Given the description of an element on the screen output the (x, y) to click on. 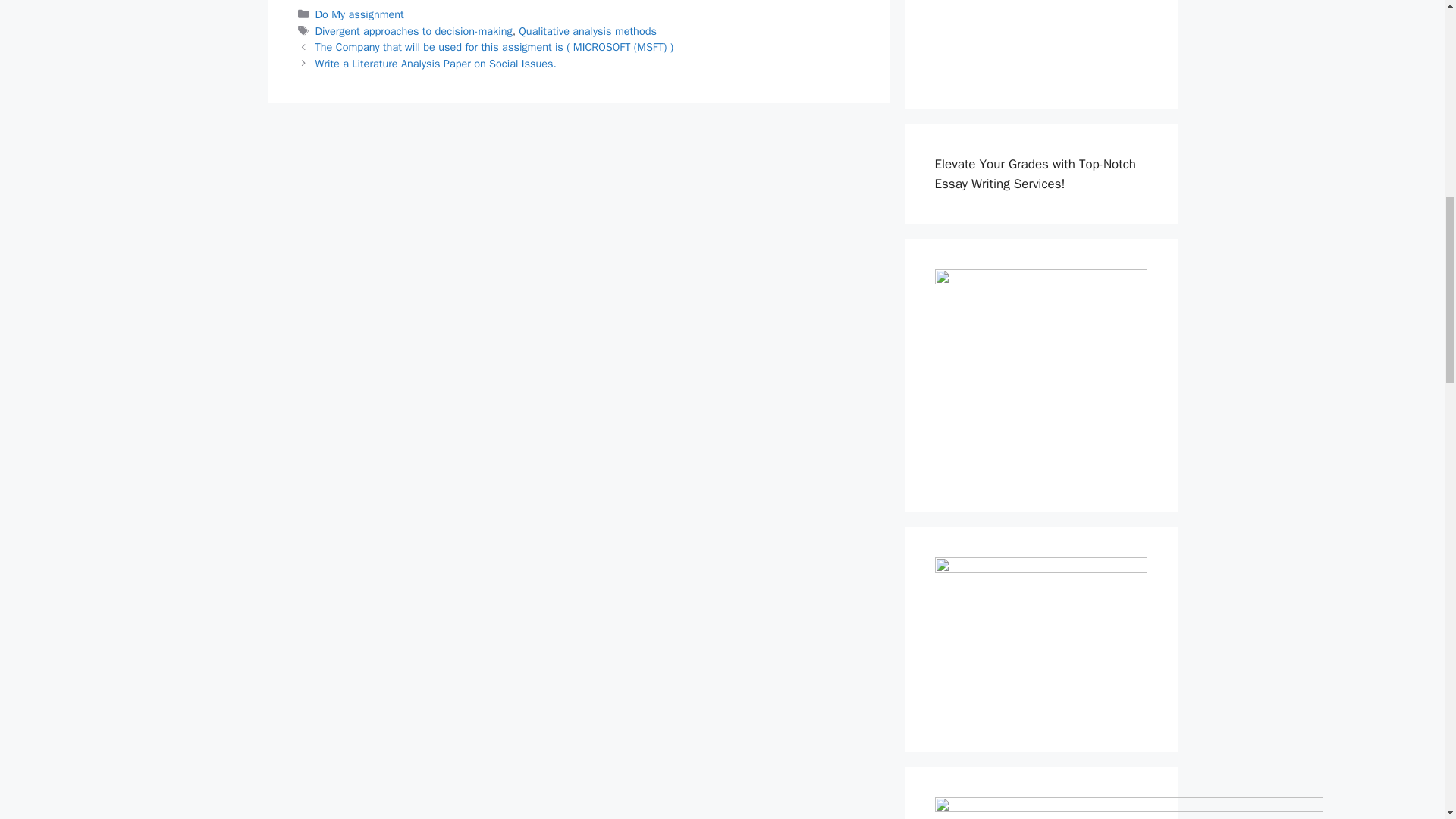
Divergent approaches to decision-making (413, 30)
Qualitative analysis methods (587, 30)
Write a Literature Analysis Paper on Social Issues. (435, 63)
Do My assignment (359, 14)
